Given the description of an element on the screen output the (x, y) to click on. 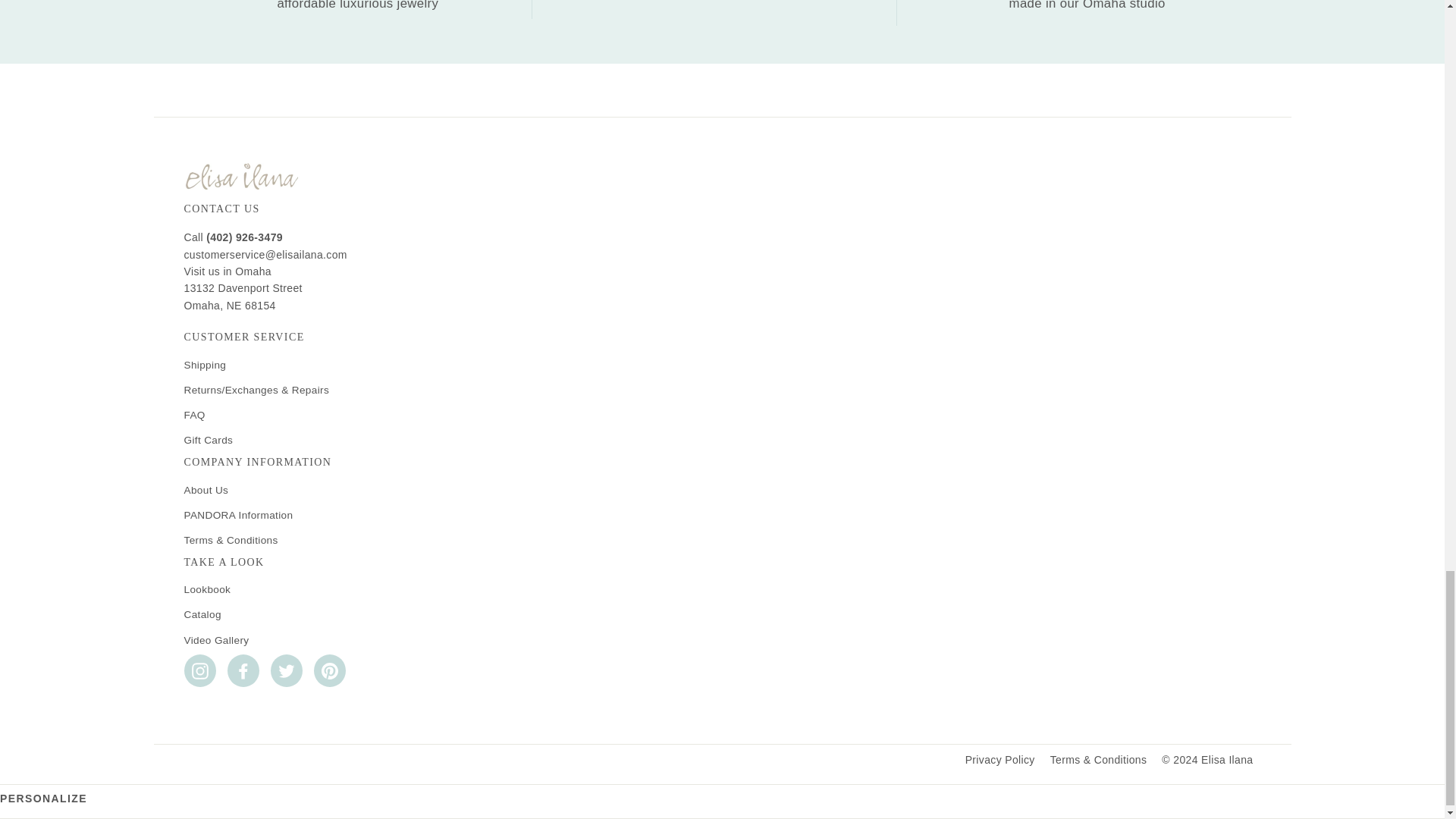
Elisa Ilana on Facebook (243, 670)
Elisa Ilana on Twitter (285, 670)
Elisa Ilana on Pinterest (330, 670)
Elisa Ilana on Instagram (199, 670)
